Given the description of an element on the screen output the (x, y) to click on. 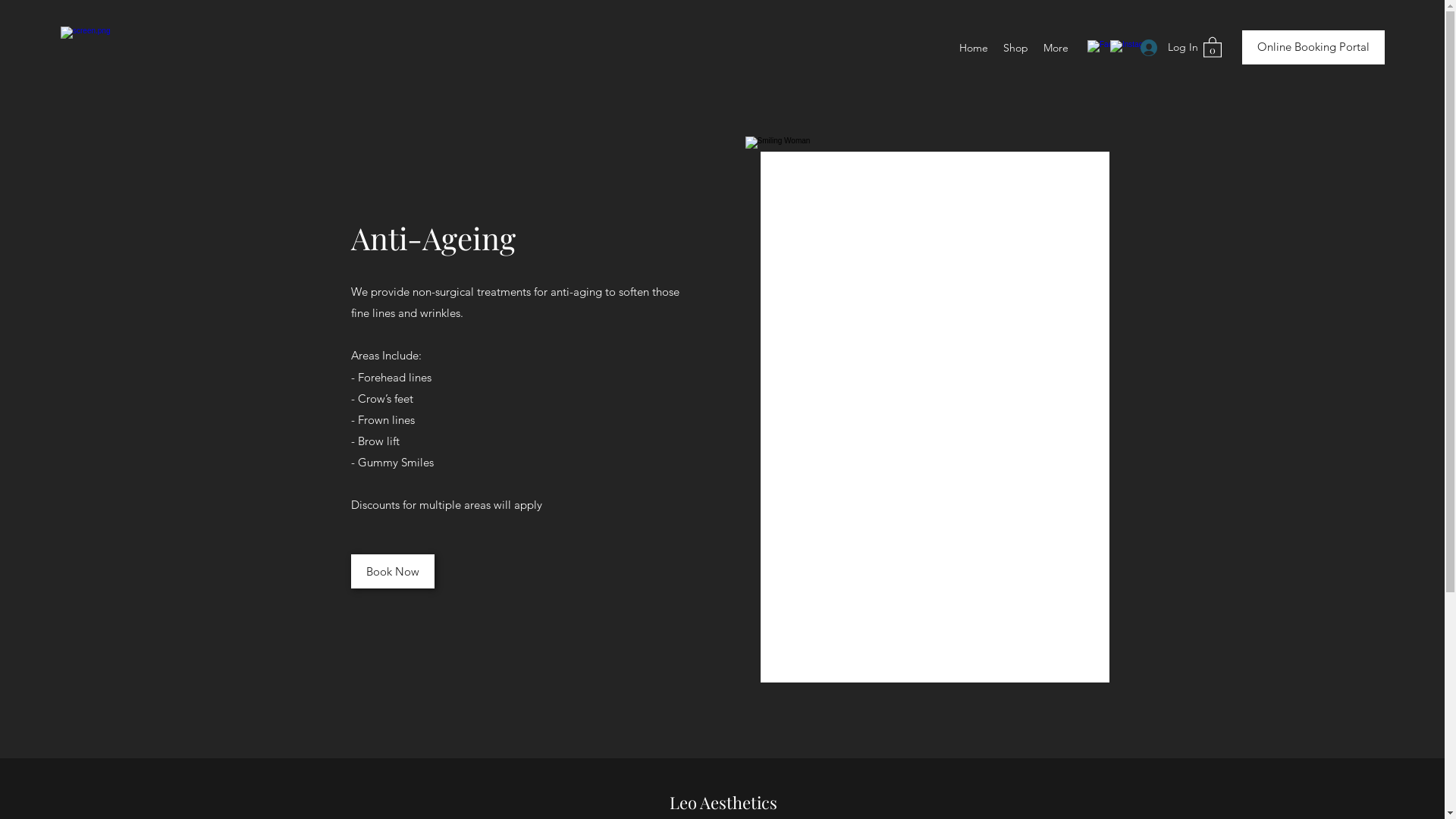
Shop Element type: text (1015, 47)
Book Now Element type: text (391, 571)
Leo Aesthetics Element type: text (723, 801)
Log In Element type: text (1163, 47)
Online Booking Portal Element type: text (1313, 47)
0 Element type: text (1212, 46)
Home Element type: text (973, 47)
